Given the description of an element on the screen output the (x, y) to click on. 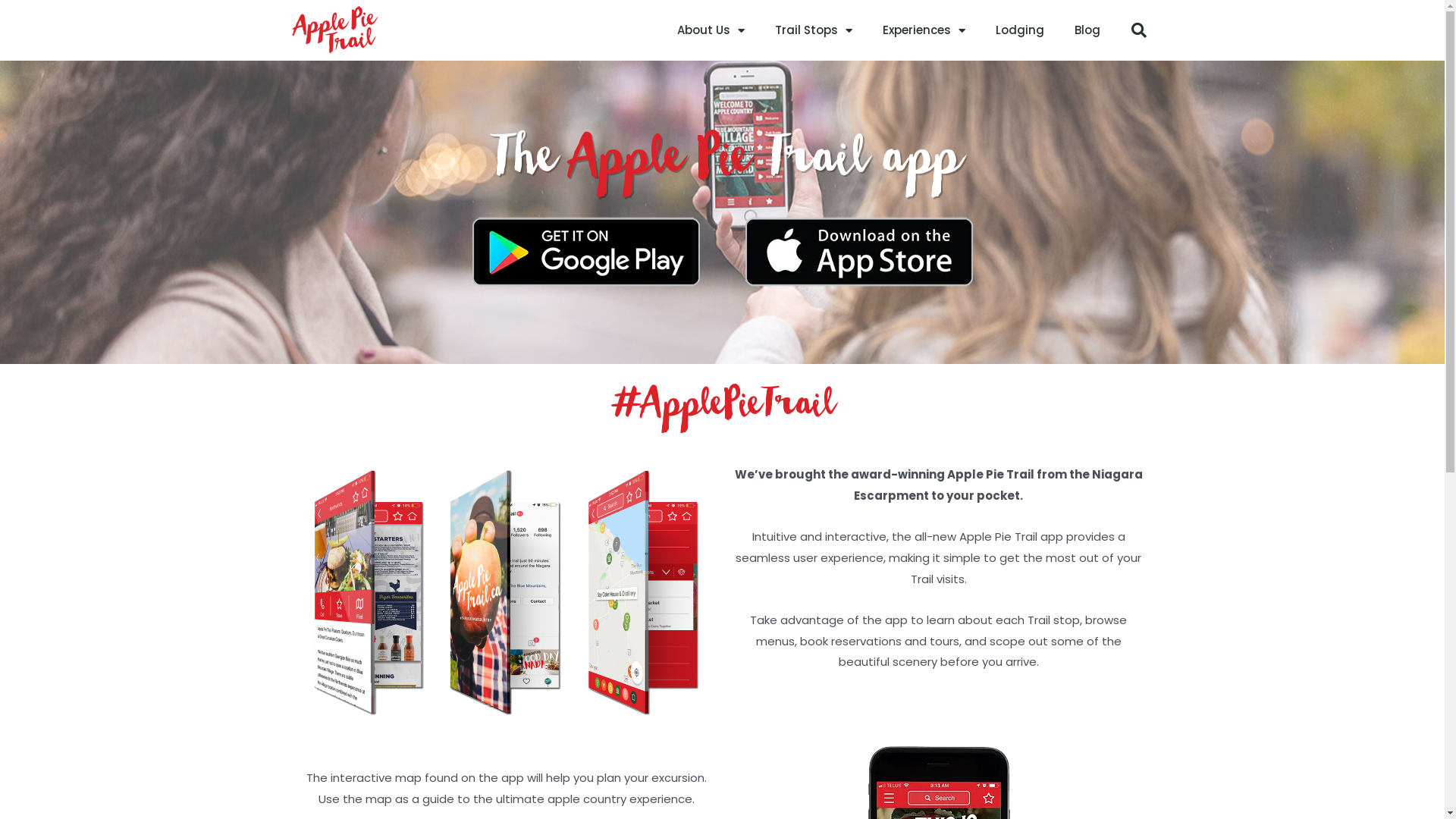
Lodging Element type: text (1018, 30)
About Us Element type: text (710, 30)
Experiences Element type: text (923, 30)
Trail Stops Element type: text (813, 30)
Blog Element type: text (1086, 30)
